Given the description of an element on the screen output the (x, y) to click on. 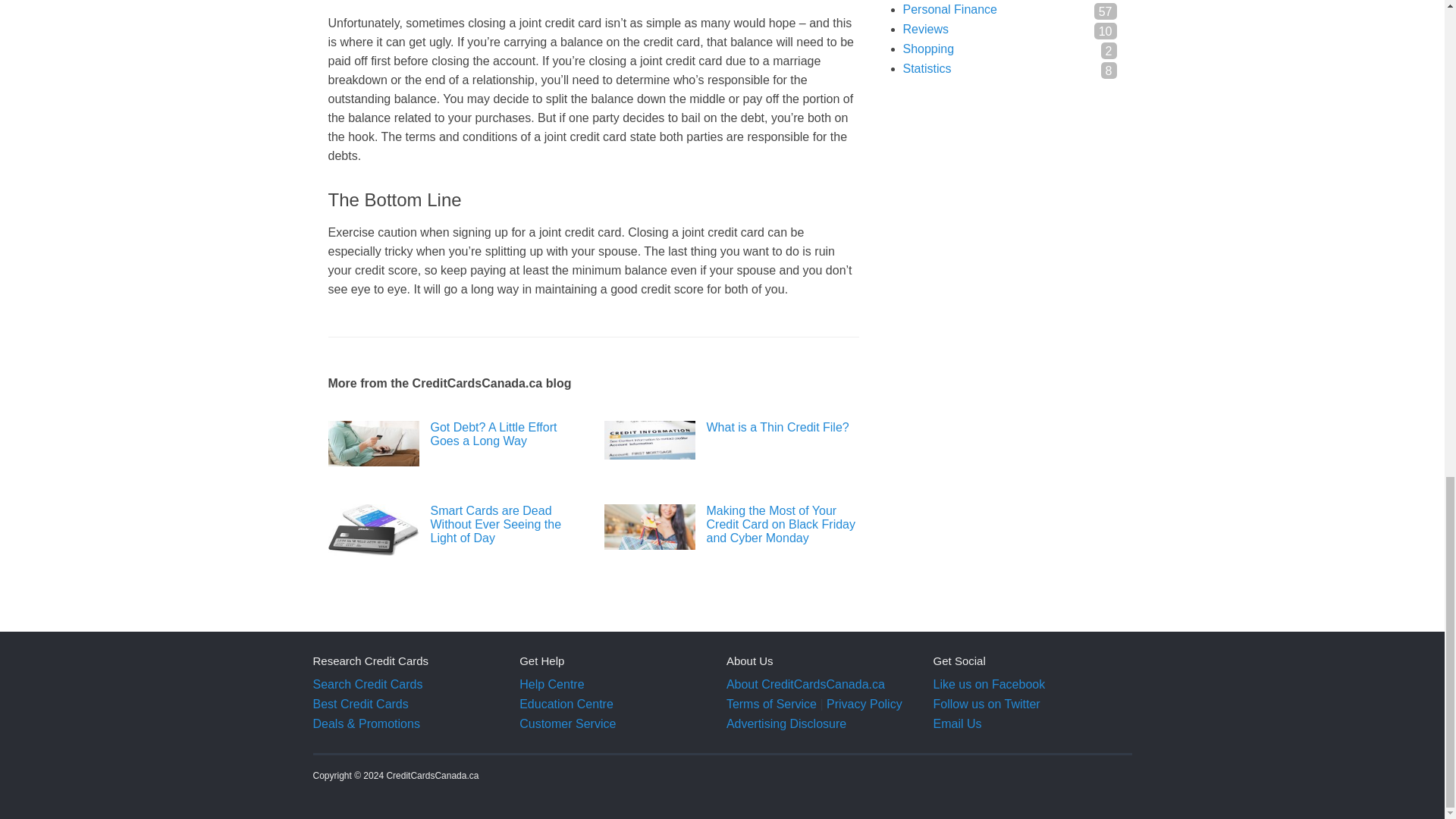
Personal Finance (949, 9)
Got Debt? A Little Effort Goes a Long Way (454, 433)
Statistics (926, 68)
What is a Thin Credit File? (731, 427)
Shopping (927, 48)
Reviews (924, 29)
Search Credit Cards (367, 684)
Smart Cards are Dead Without Ever Seeing the Light of Day (454, 524)
